Given the description of an element on the screen output the (x, y) to click on. 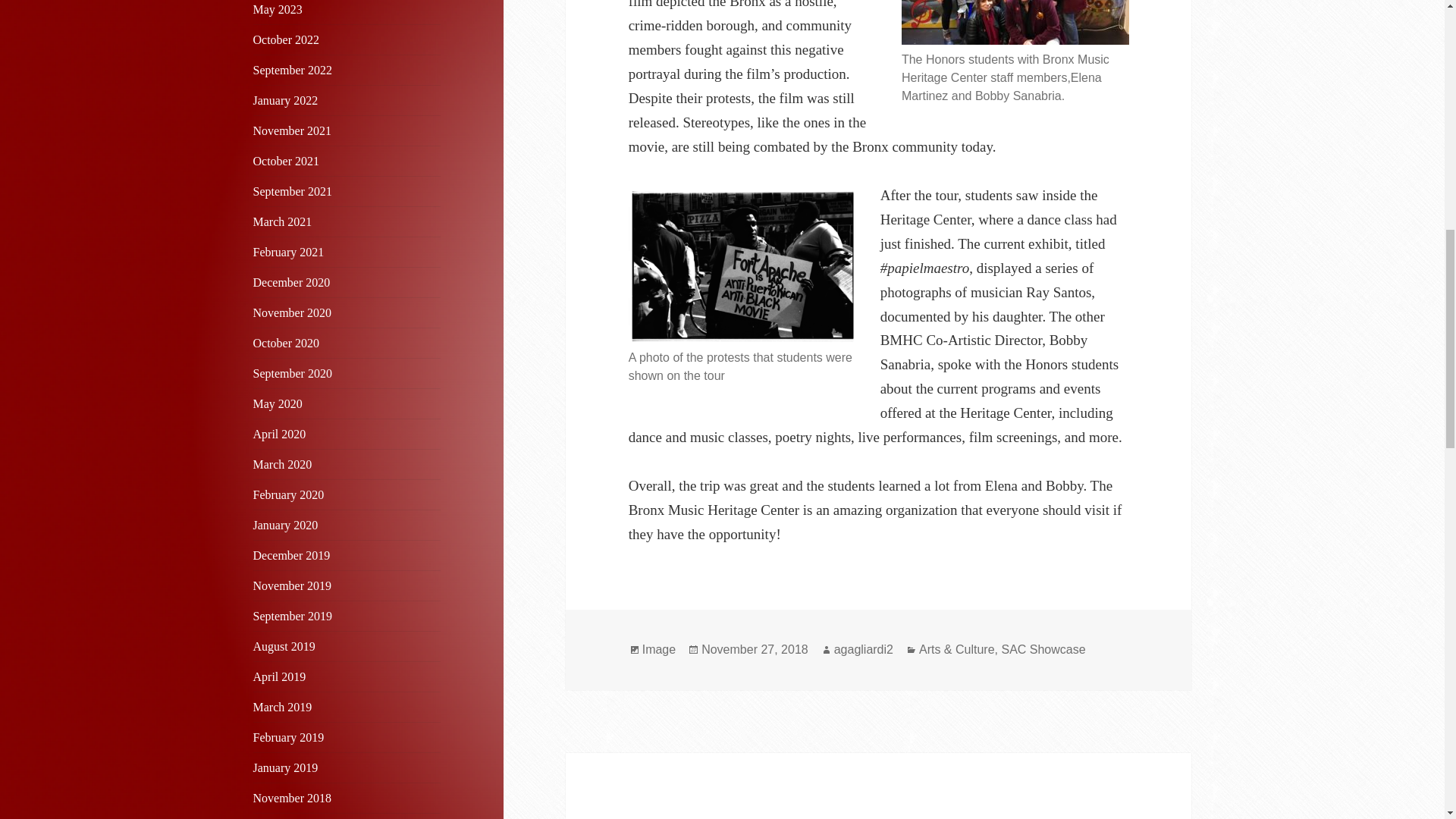
November 2019 (292, 585)
December 2019 (291, 554)
February 2019 (288, 737)
January 2022 (285, 100)
March 2021 (283, 221)
November 2021 (292, 130)
February 2020 (288, 494)
November 2020 (292, 312)
September 2019 (292, 615)
September 2022 (292, 69)
